Given the description of an element on the screen output the (x, y) to click on. 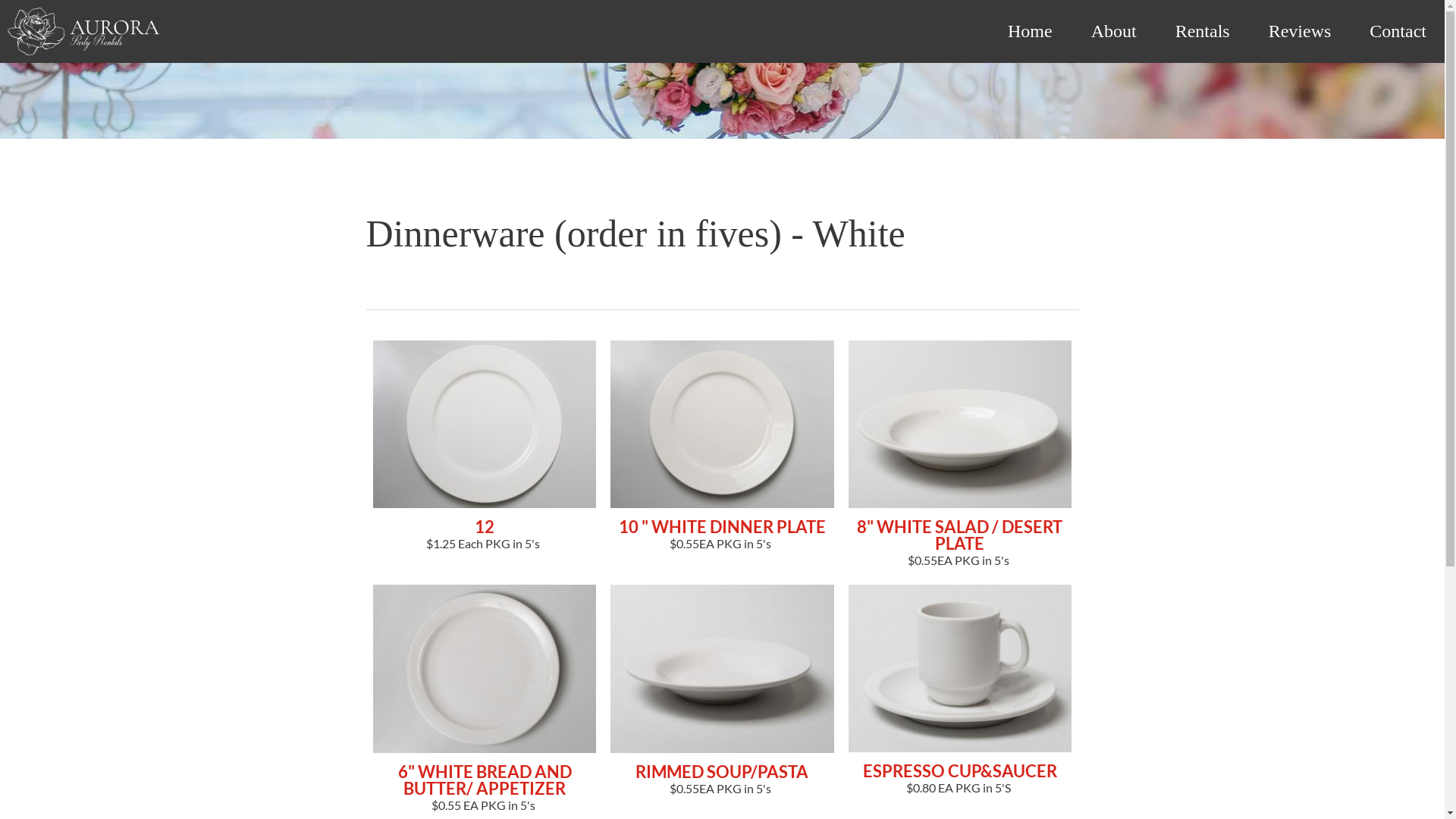
Rentals Element type: text (1202, 30)
Home Element type: text (1029, 30)
About Element type: text (1113, 30)
Reviews Element type: text (1299, 30)
Contact Element type: text (1397, 30)
